Given the description of an element on the screen output the (x, y) to click on. 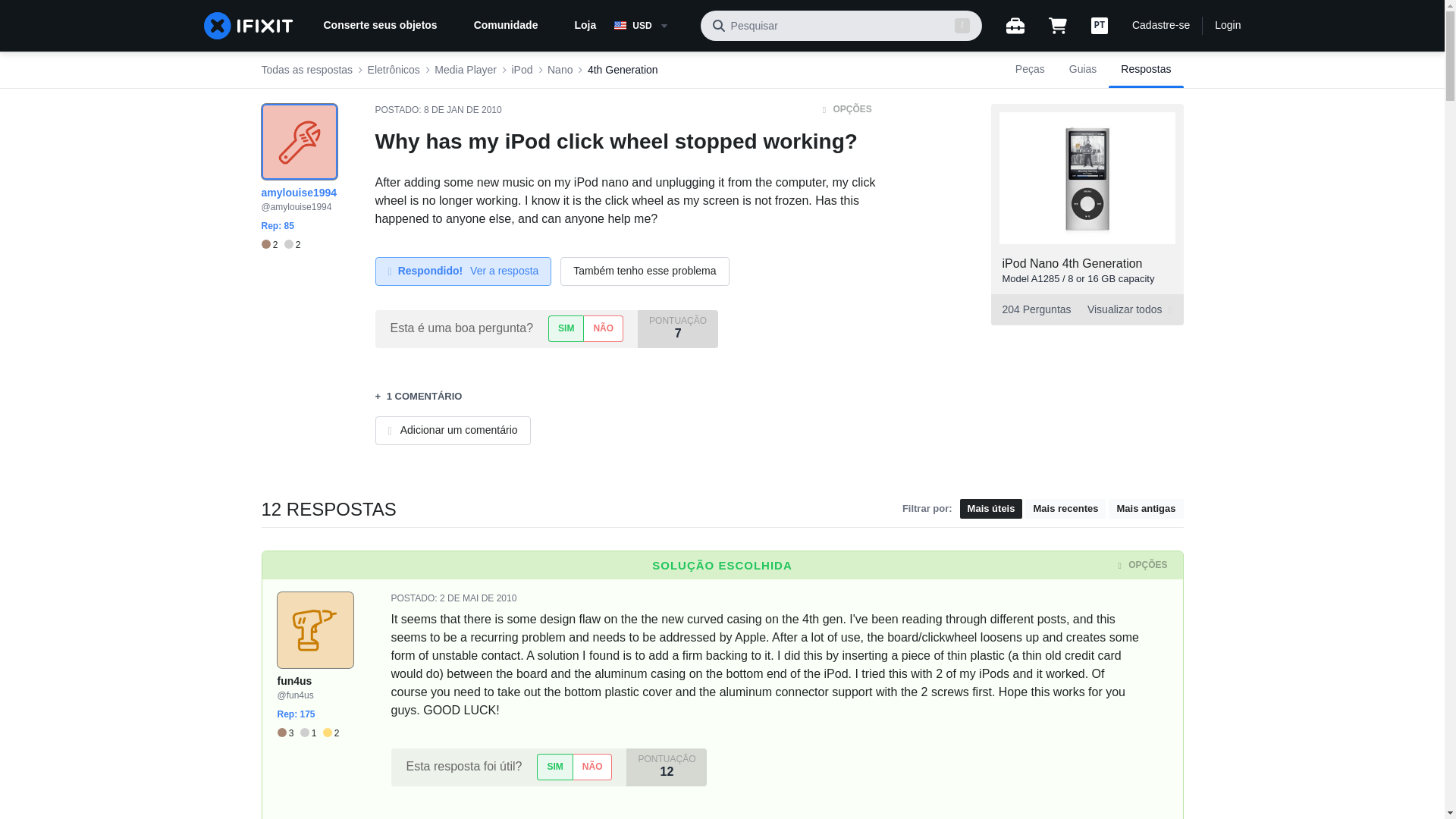
2 emblemas de Bronze (271, 245)
Sun, 02 May 2010 00:39:31 -0700 (477, 597)
Respondido! Ver a resposta (462, 271)
Login (1227, 25)
4th Generation (623, 69)
Cadastre-se (1160, 25)
USD (650, 25)
2 2 (279, 245)
iPod Nano 4th Generation (1072, 263)
2 emblemas de Prata (292, 245)
PT (1099, 25)
3 emblemas de Bronze (288, 733)
POSTADO: 8 DE JAN DE 2010 (437, 109)
Guias (1083, 69)
Nano (559, 69)
